Given the description of an element on the screen output the (x, y) to click on. 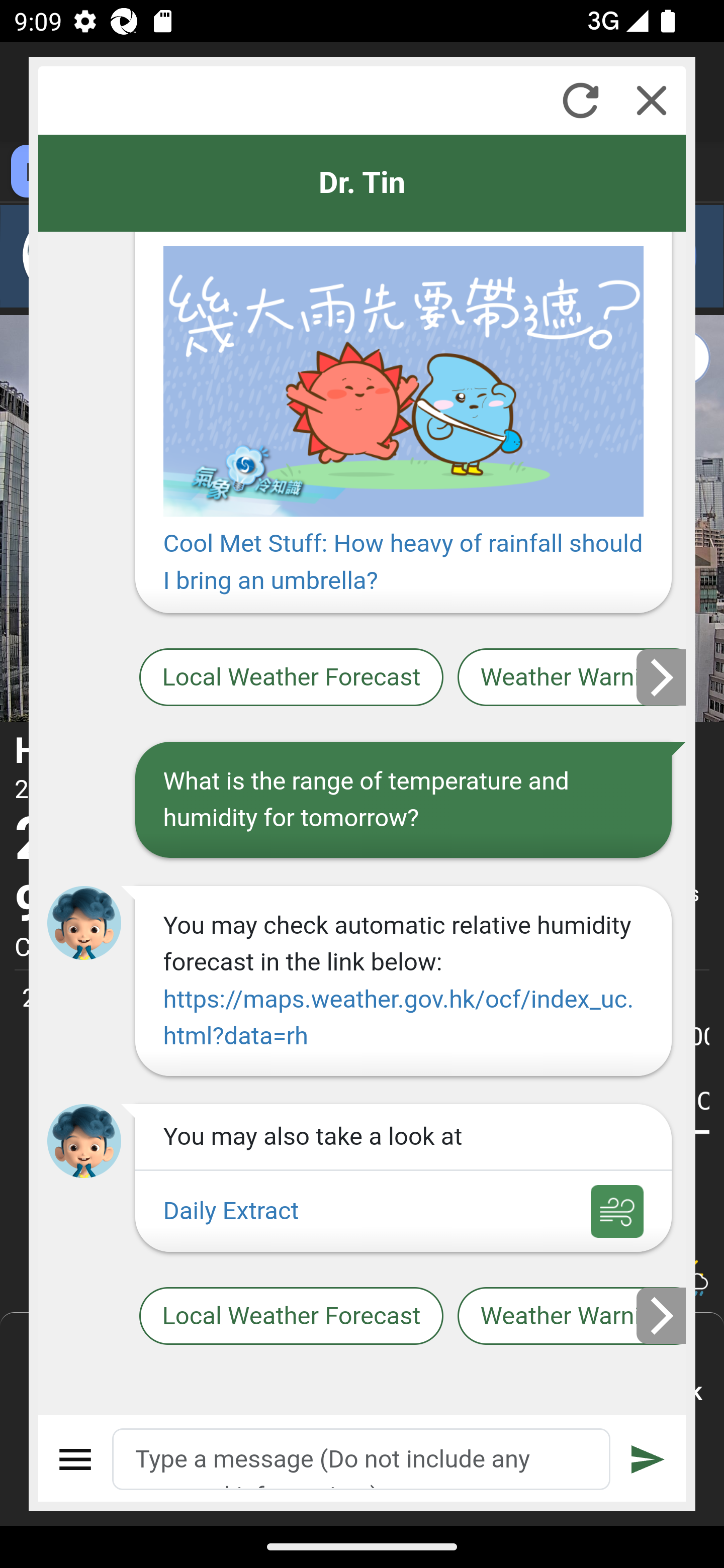
Refresh (580, 100)
Close (651, 100)
Local Weather Forecast (291, 677)
Weather Warnings (571, 677)
Next slide (661, 676)
Daily Extract (403, 1210)
Local Weather Forecast (291, 1315)
Weather Warnings (571, 1315)
Next slide (661, 1316)
Menu (75, 1458)
Submit (648, 1458)
